Given the description of an element on the screen output the (x, y) to click on. 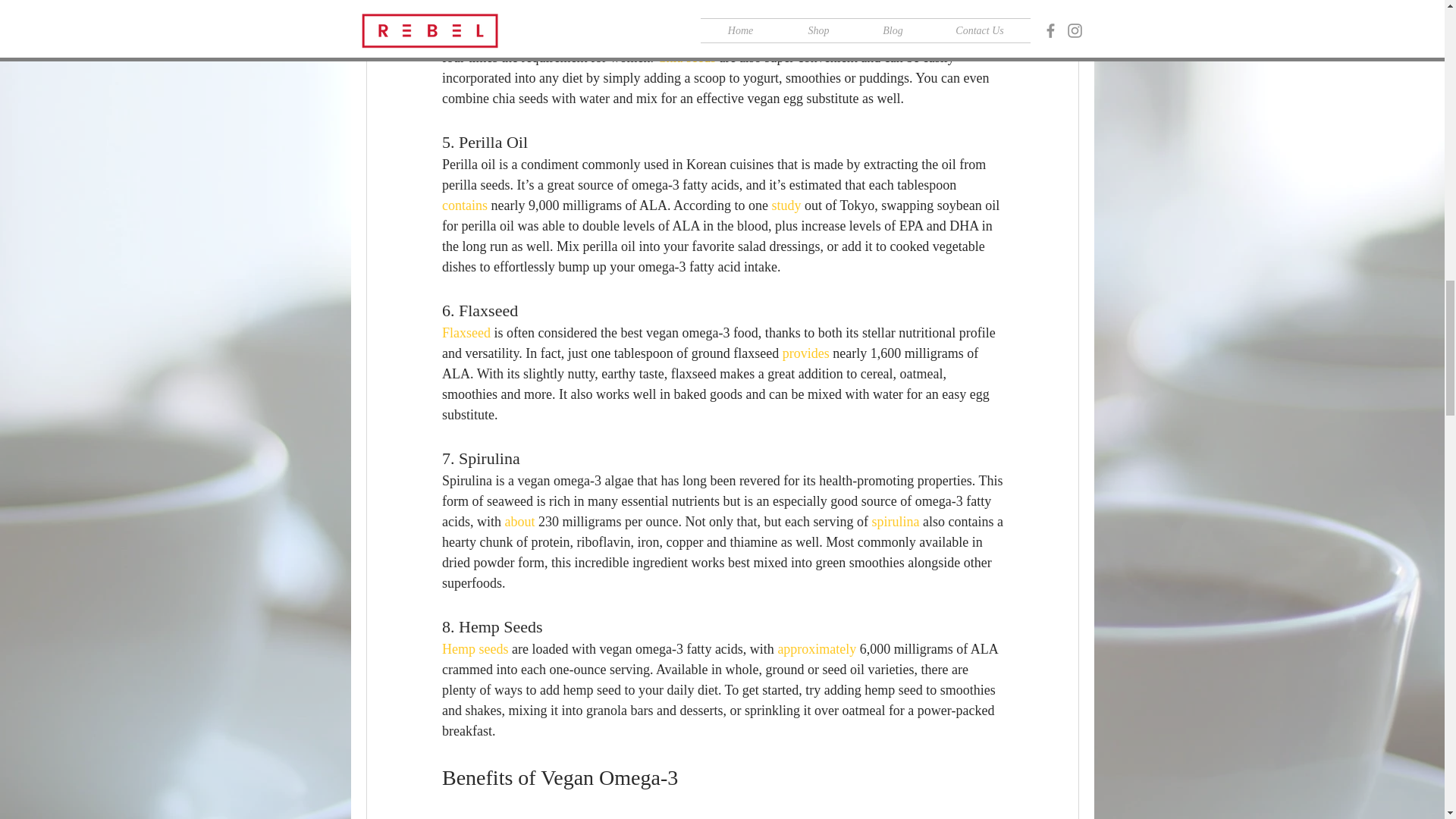
contains (463, 205)
about (518, 521)
study (785, 205)
spirulina (894, 521)
approximately (816, 648)
provides (804, 353)
Flaxseed (465, 332)
daily recommended amount (844, 37)
Hemp seeds (473, 648)
Chia seeds (685, 57)
contains (463, 37)
